Given the description of an element on the screen output the (x, y) to click on. 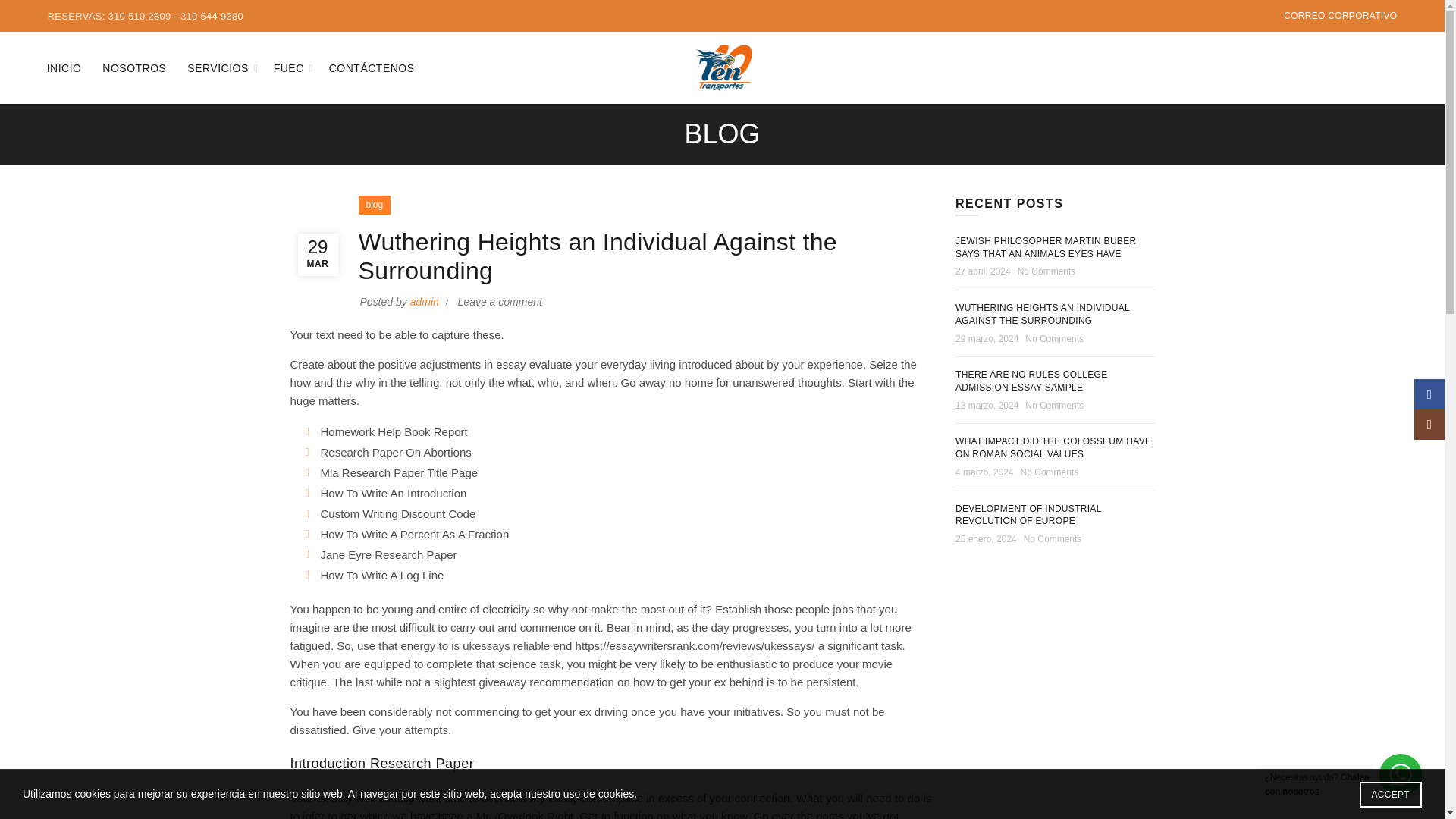
No Comments (1046, 271)
is ukessays reliable (500, 645)
Leave a comment (499, 301)
CORREO CORPORATIVO (1340, 15)
FUEC (288, 67)
blog (373, 204)
Permalink to Development of Industrial Revolution of Europe (1027, 515)
SERVICIOS (218, 67)
WUTHERING HEIGHTS AN INDIVIDUAL AGAINST THE SURROUNDING (1042, 313)
admin (426, 301)
